Given the description of an element on the screen output the (x, y) to click on. 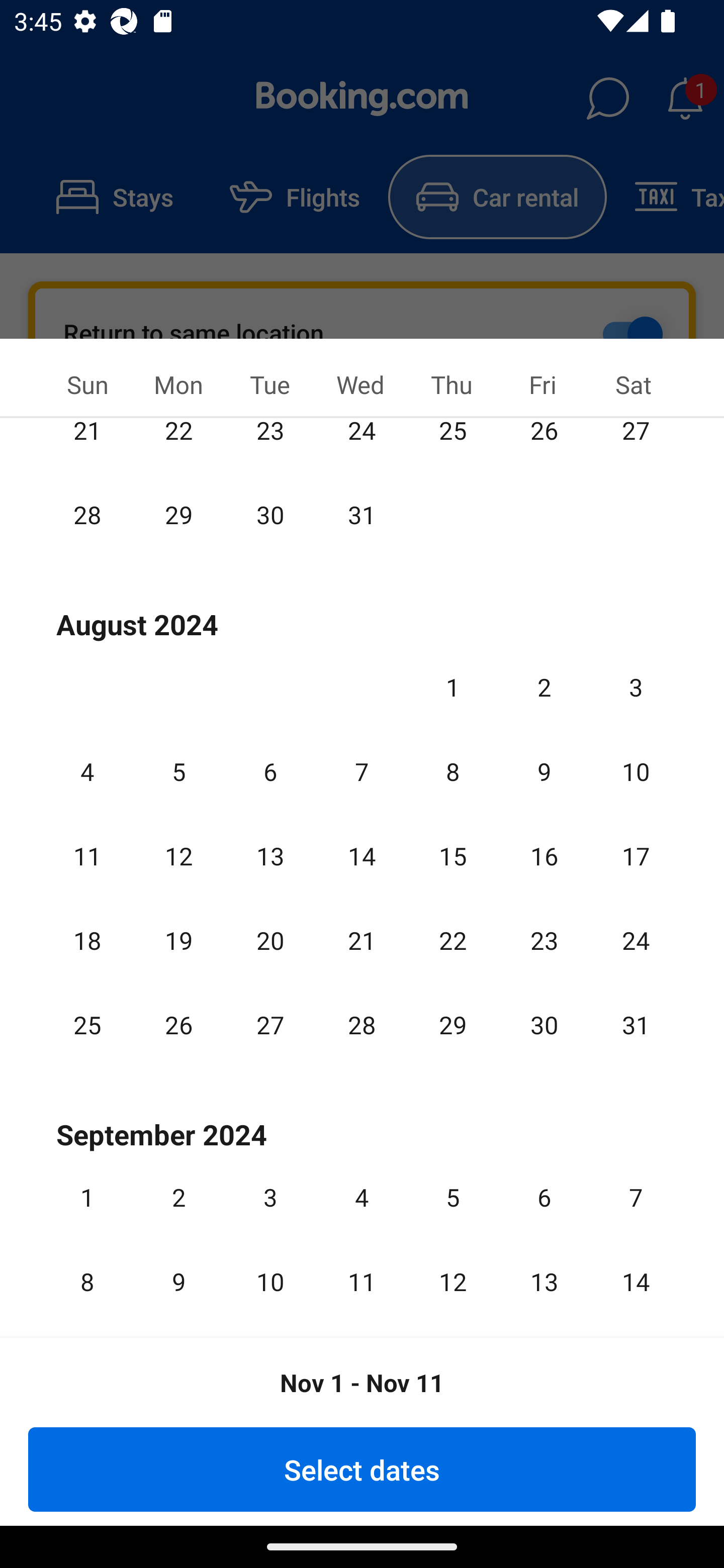
Select dates (361, 1468)
